Given the description of an element on the screen output the (x, y) to click on. 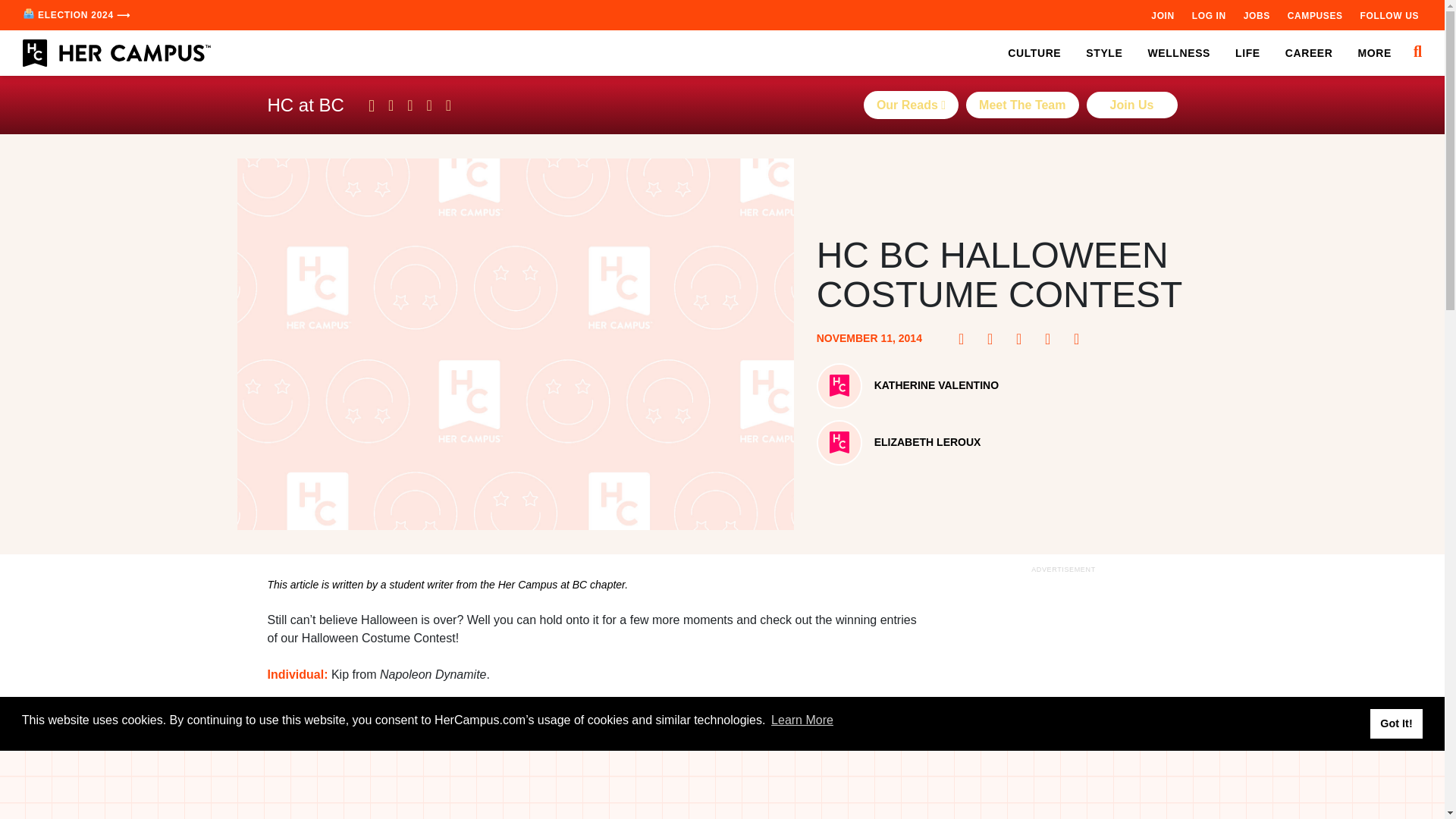
Twitter (1023, 338)
Got It! (1396, 723)
JOIN (1162, 15)
3rd party ad content (1062, 698)
CAMPUSES (1314, 15)
Email (1081, 338)
JOBS (1256, 15)
Facebook (966, 338)
LOG IN (1208, 15)
Pinterest (995, 338)
LinkedIn (1052, 338)
3rd party ad content (722, 785)
